Given the description of an element on the screen output the (x, y) to click on. 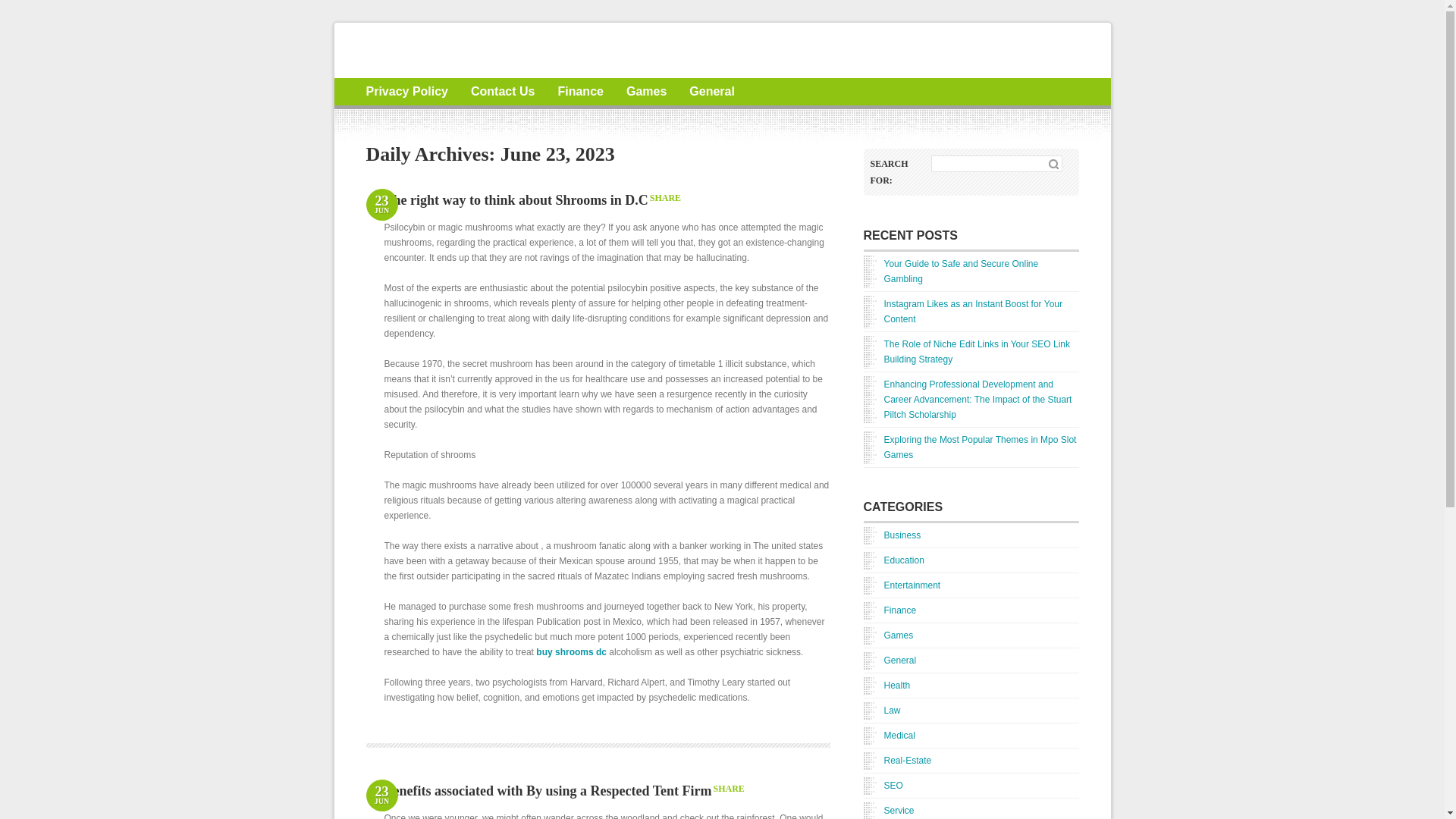
Health (886, 685)
Benefits associated with By using a Respected Tent Firm (547, 790)
June 23, 2023 (381, 206)
buy shrooms dc (571, 652)
Instagram Likes as an Instant Boost for Your Content (970, 311)
Finance (889, 610)
Search (1053, 163)
Service (888, 810)
Search (1053, 163)
Law (881, 710)
